Given the description of an element on the screen output the (x, y) to click on. 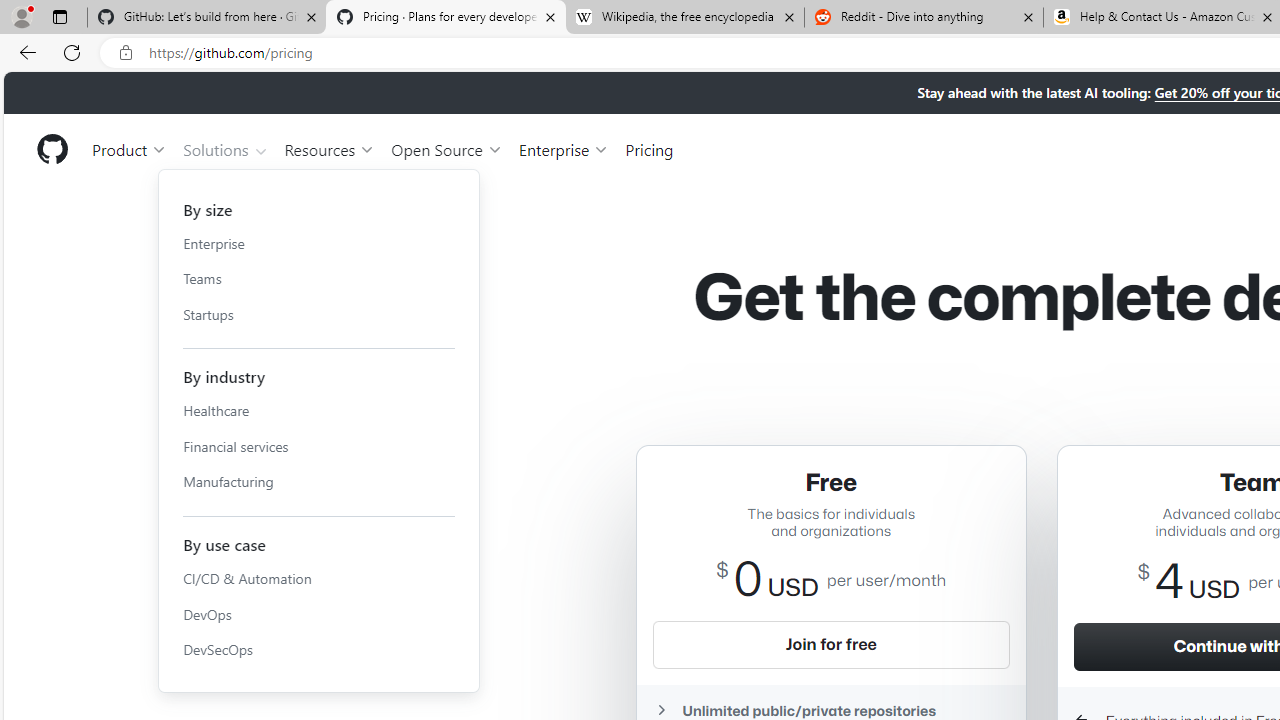
Product (130, 148)
Manufacturing (319, 482)
Enterprise (563, 148)
Join for free (830, 643)
DevOps (319, 614)
DevSecOps (319, 650)
Financial services (319, 446)
Healthcare (319, 411)
CI/CD & Automation (319, 578)
DevOps (319, 614)
CI/CD & Automation (319, 578)
